Given the description of an element on the screen output the (x, y) to click on. 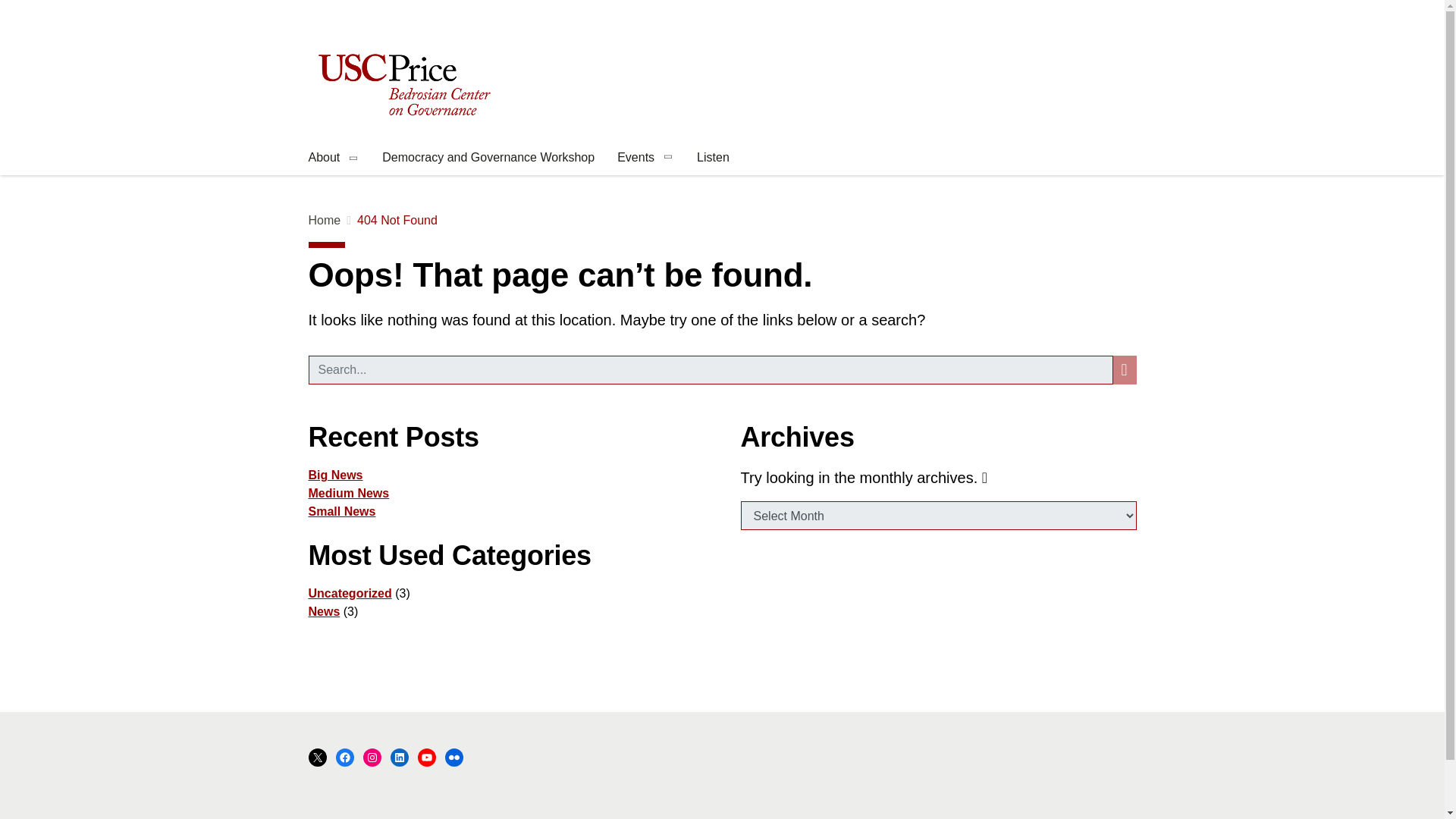
Listen (712, 159)
YouTube (425, 757)
About (333, 159)
Flickr (453, 757)
Instagram (371, 757)
About (333, 159)
LinkedIn (398, 757)
USC Price Bedrosian Center (402, 85)
X (316, 757)
Listen (712, 159)
